Given the description of an element on the screen output the (x, y) to click on. 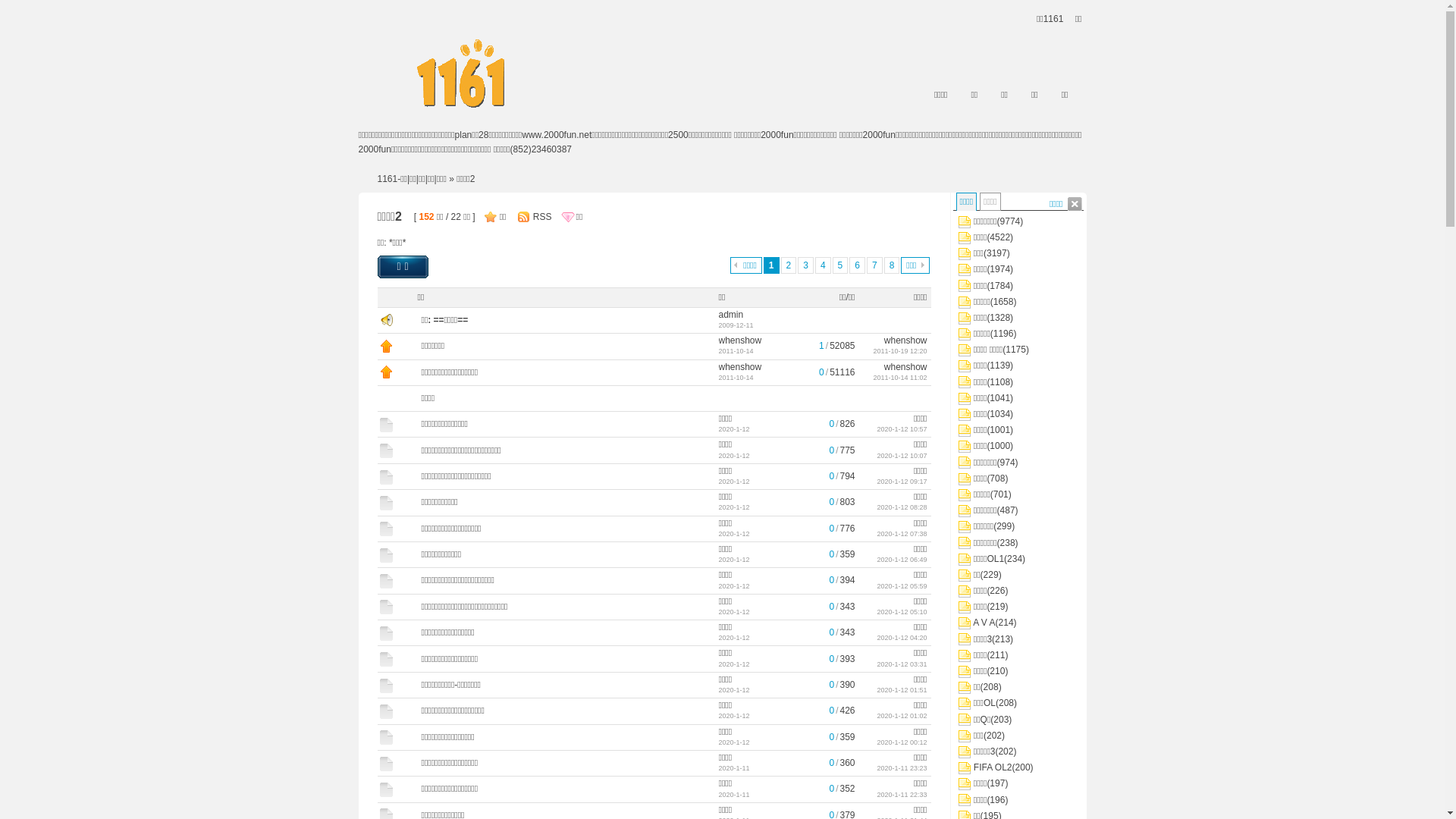
2020-1-12 05:59 Element type: text (901, 585)
5 Element type: text (840, 265)
6 Element type: text (857, 265)
2020-1-11 22:33 Element type: text (901, 793)
2020-1-12 01:51 Element type: text (901, 689)
2020-1-11 23:23 Element type: text (901, 767)
whenshow Element type: text (905, 340)
2011-10-19 12:20 Element type: text (899, 350)
2020-1-12 00:12 Element type: text (901, 742)
www.2000fun.net Element type: text (556, 134)
7 Element type: text (874, 265)
2020-1-12 07:38 Element type: text (901, 533)
2020-1-12 08:28 Element type: text (901, 507)
4 Element type: text (823, 265)
2020-1-12 06:49 Element type: text (901, 559)
2020-1-12 09:17 Element type: text (901, 481)
2020-1-12 01:02 Element type: text (901, 715)
2020-1-12 10:07 Element type: text (901, 455)
admin Element type: text (730, 314)
whenshow Element type: text (905, 365)
2 Element type: text (789, 265)
FIFA OL2 Element type: text (992, 767)
8 Element type: text (892, 265)
3 Element type: text (805, 265)
whenshow Element type: text (740, 340)
2020-1-12 03:31 Element type: text (901, 664)
A V A Element type: text (983, 622)
2020-1-12 05:10 Element type: text (901, 611)
2011-10-14 11:02 Element type: text (899, 377)
whenshow Element type: text (740, 365)
RSS Element type: text (539, 216)
2020-1-12 10:57 Element type: text (901, 429)
2020-1-12 04:20 Element type: text (901, 637)
